Given the description of an element on the screen output the (x, y) to click on. 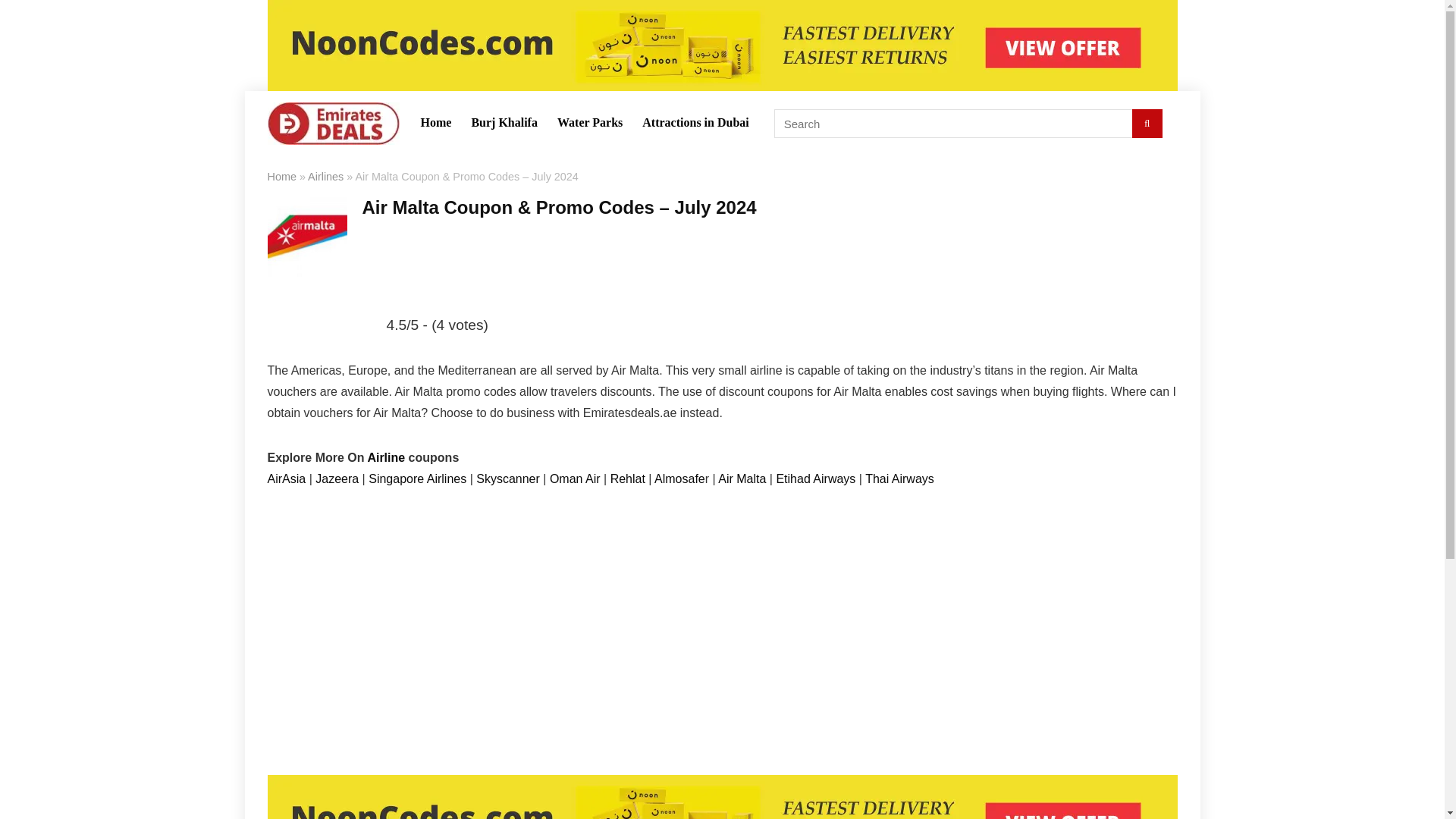
Airline (386, 457)
Home (435, 123)
Almosafe (678, 478)
AirAsia (287, 478)
Airlines (325, 176)
Water Parks (589, 123)
Skyscanner (508, 478)
Air Malta (741, 478)
Etihad Airways (816, 478)
Oman Air (577, 478)
Singapore Airlines (416, 478)
Jazeera (338, 478)
Burj Khalifa (504, 123)
Home (280, 176)
Rehlat (629, 478)
